Given the description of an element on the screen output the (x, y) to click on. 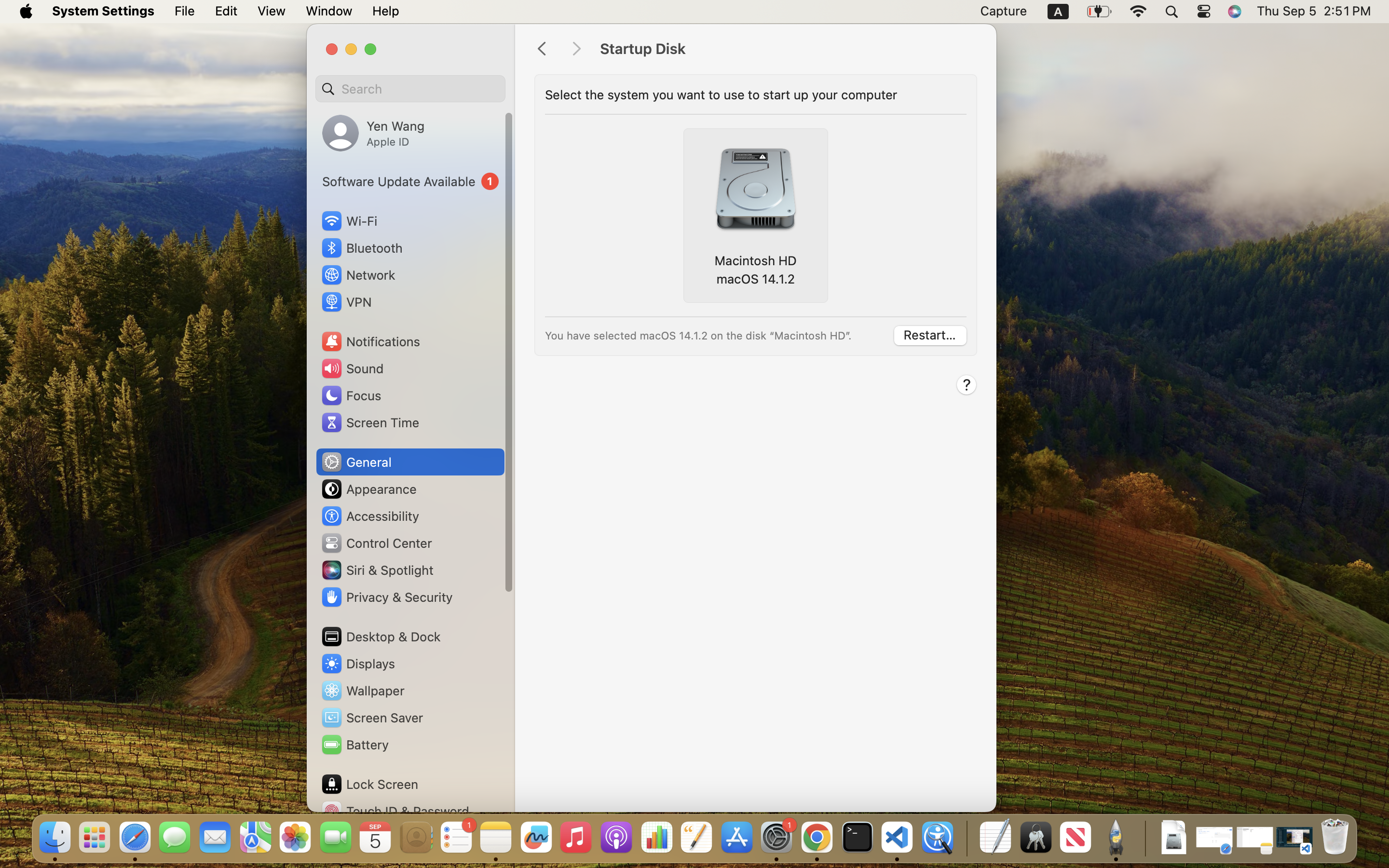
1 Element type: AXStaticText (410, 180)
Focus Element type: AXStaticText (350, 394)
Startup Disk Element type: AXStaticText (788, 49)
Bluetooth Element type: AXStaticText (361, 247)
Control Center Element type: AXStaticText (376, 542)
